Given the description of an element on the screen output the (x, y) to click on. 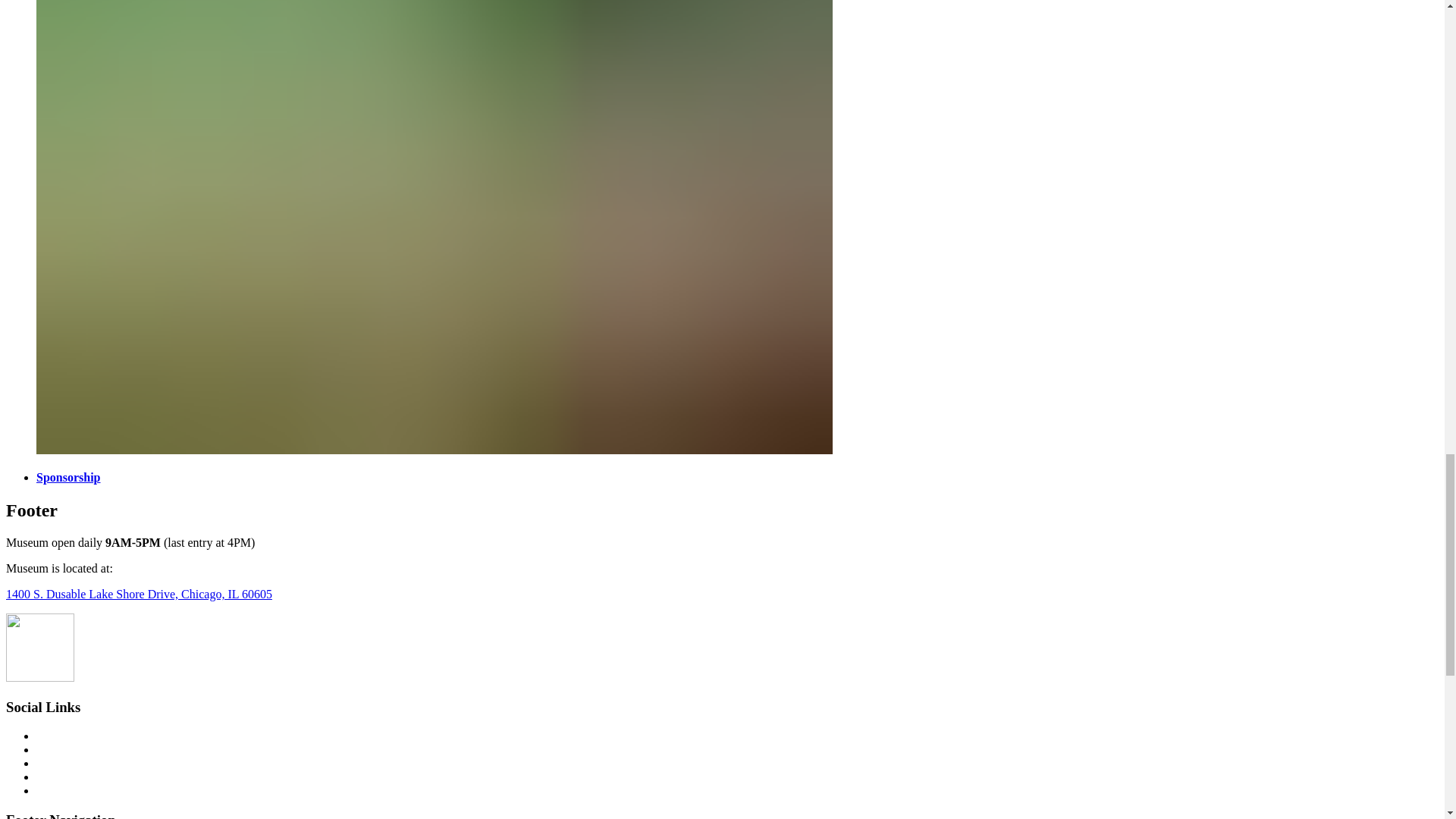
Return to home page (39, 676)
